Given the description of an element on the screen output the (x, y) to click on. 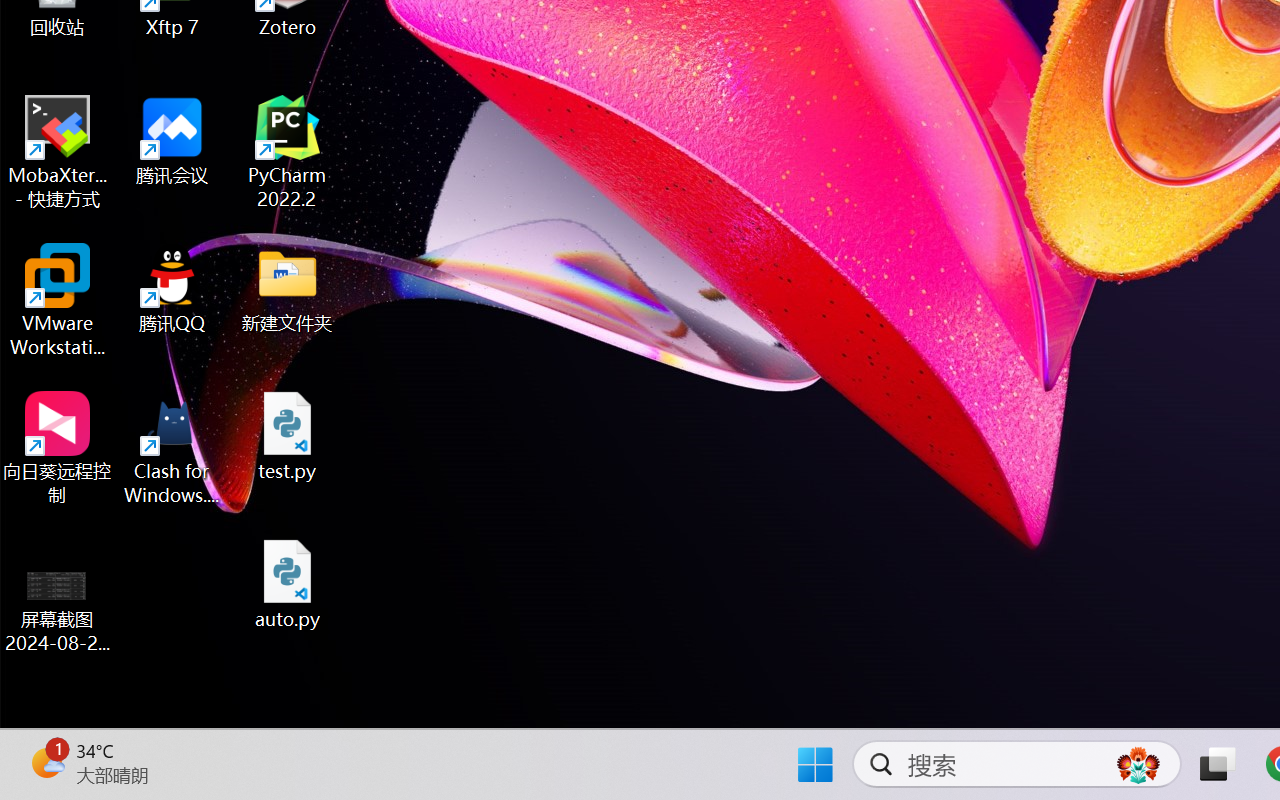
auto.py (287, 584)
test.py (287, 436)
VMware Workstation Pro (57, 300)
